Given the description of an element on the screen output the (x, y) to click on. 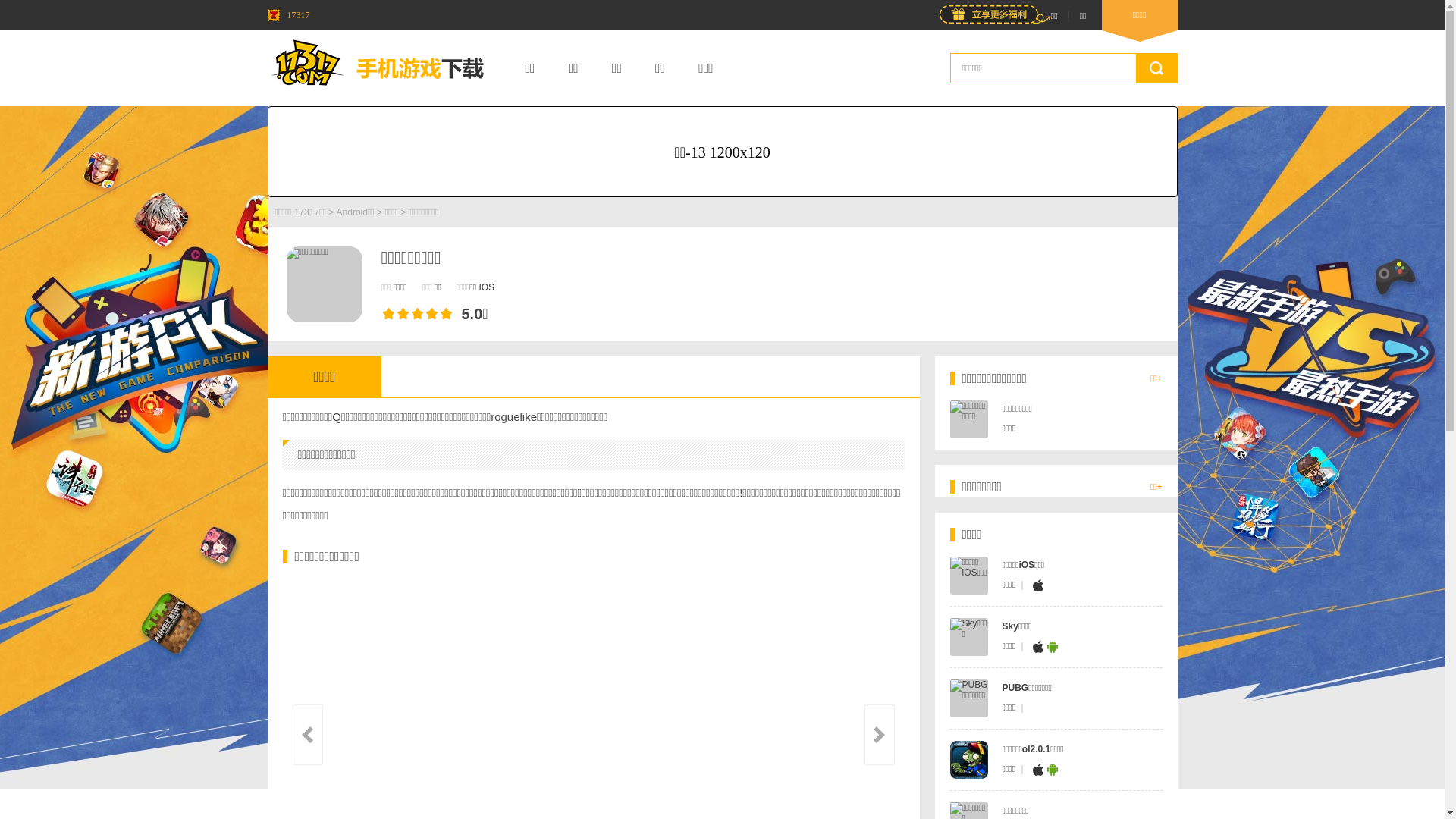
17317 Element type: text (287, 14)
